Given the description of an element on the screen output the (x, y) to click on. 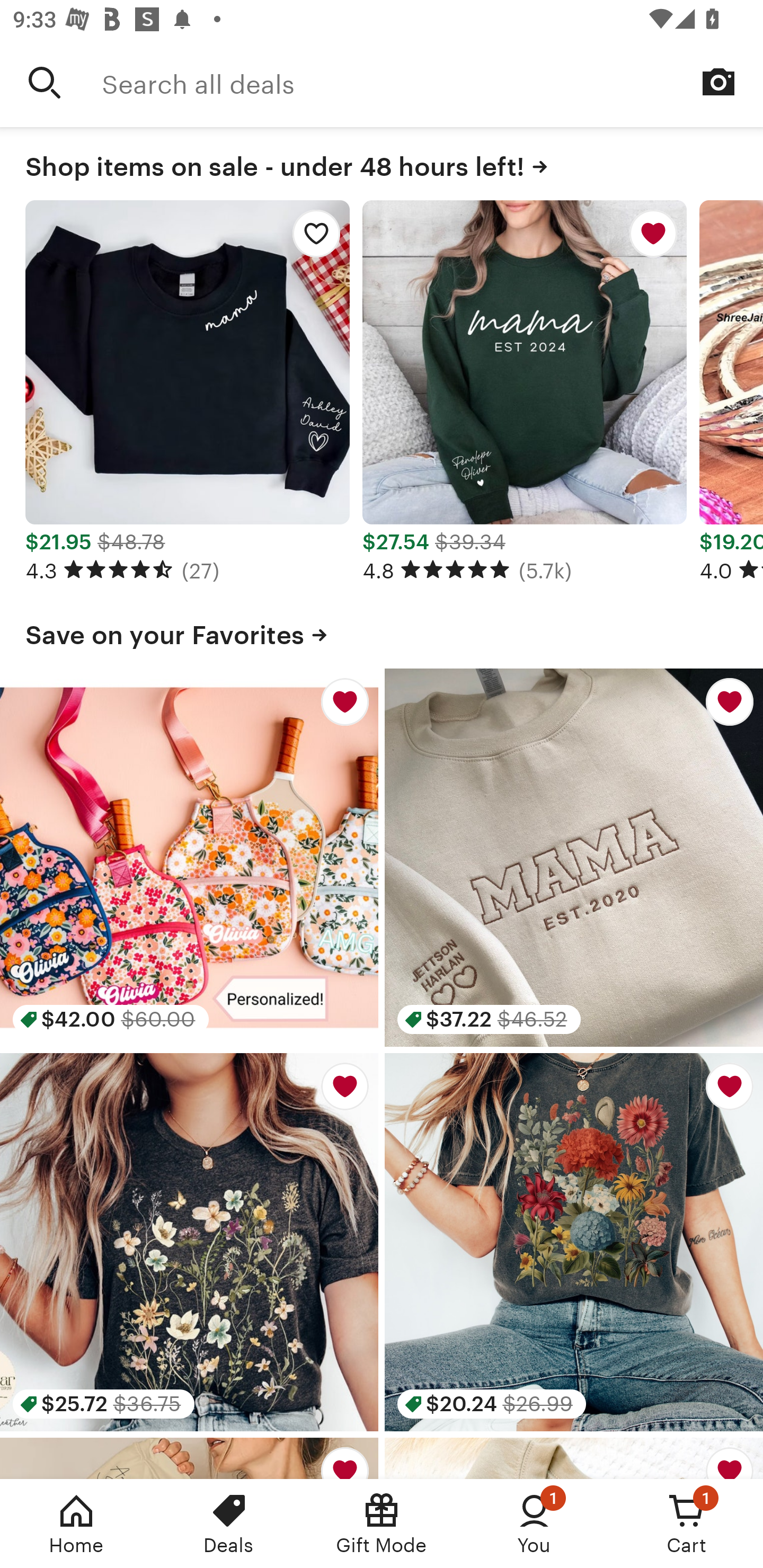
Search for anything on Etsy (44, 82)
Search by image (718, 81)
Search all deals (432, 82)
Shop items on sale - under 48 hours left! (381, 163)
Save on your Favorites (381, 631)
Home (76, 1523)
Gift Mode (381, 1523)
You, 1 new notification You (533, 1523)
Cart, 1 new notification Cart (686, 1523)
